Given the description of an element on the screen output the (x, y) to click on. 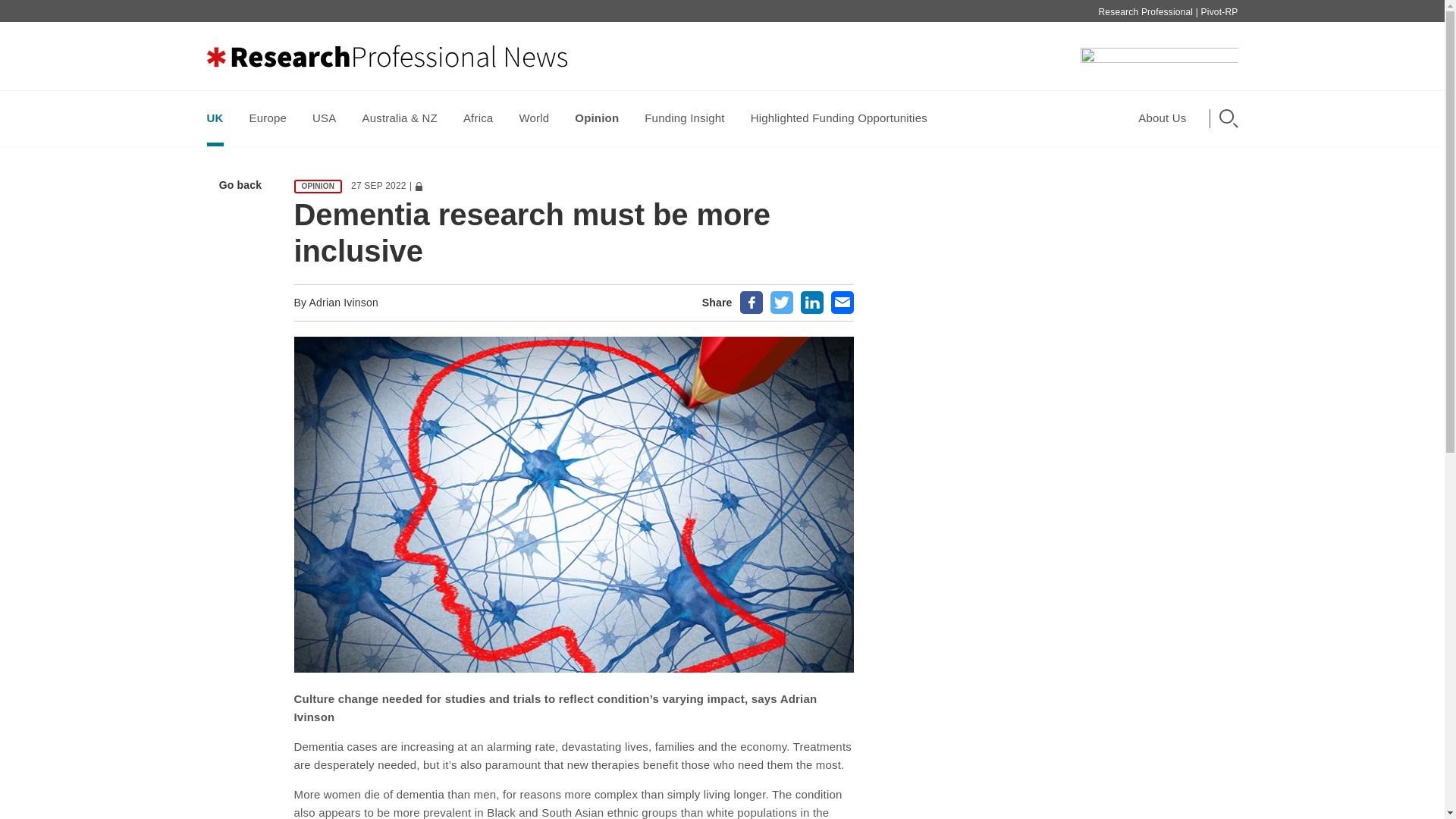
About Us (1166, 118)
Funding Insight (684, 118)
Research Professional (1144, 11)
Research Professional News (386, 56)
Share via email (842, 302)
OPINION (318, 186)
Go back (236, 184)
Share on Twitter (781, 302)
Share on Linkedin (812, 302)
Pivot-RP (1220, 11)
